Given the description of an element on the screen output the (x, y) to click on. 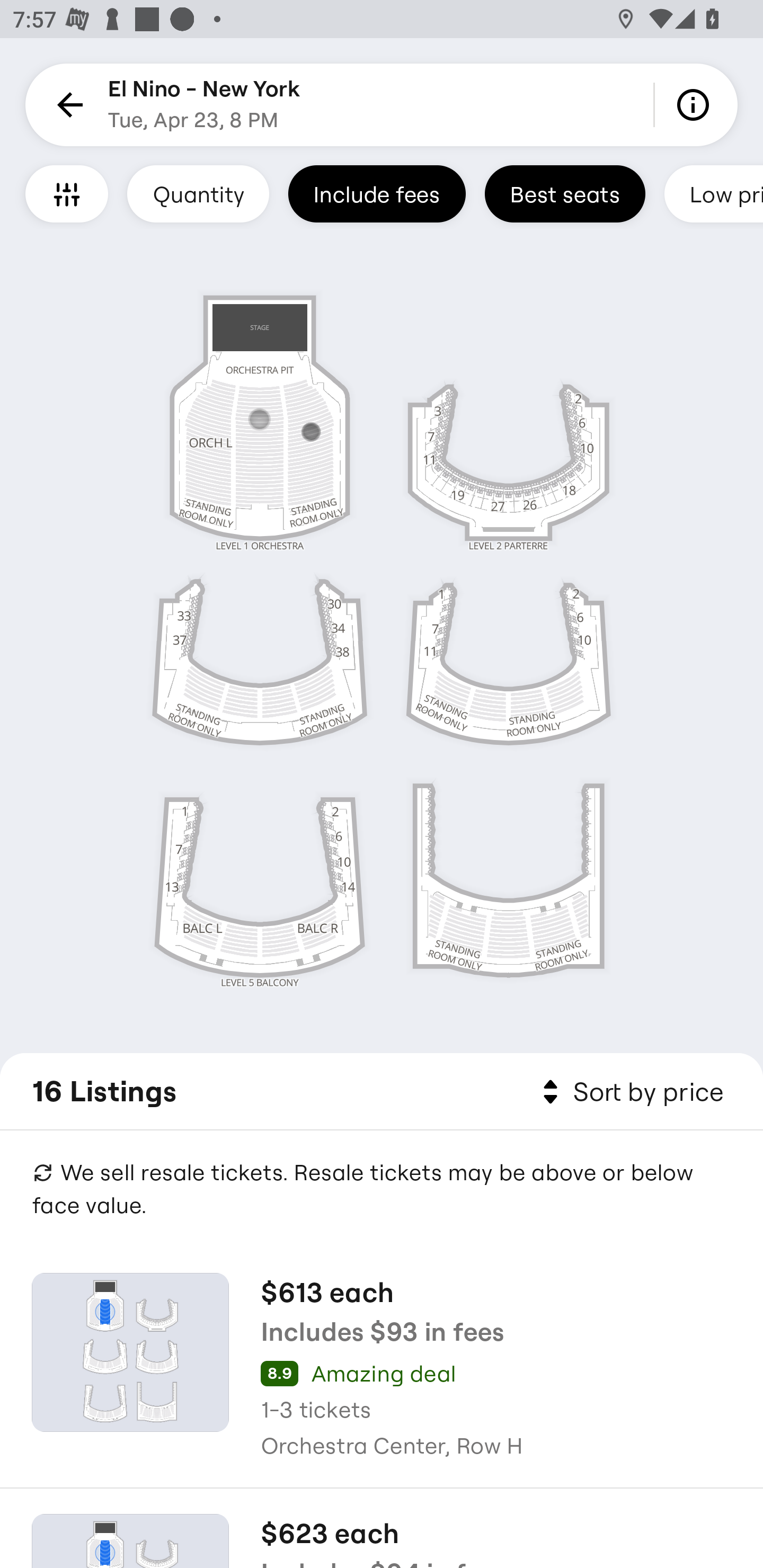
Back El Nino - New York Tue, Apr 23, 8 PM Info (381, 104)
Back (66, 104)
El Nino - New York Tue, Apr 23, 8 PM (204, 104)
Info (695, 104)
Filters and Accessible Seating (66, 193)
Quantity (198, 193)
Include fees (376, 193)
Best seats (564, 193)
Low prices (713, 193)
Sort by price (629, 1091)
